Given the description of an element on the screen output the (x, y) to click on. 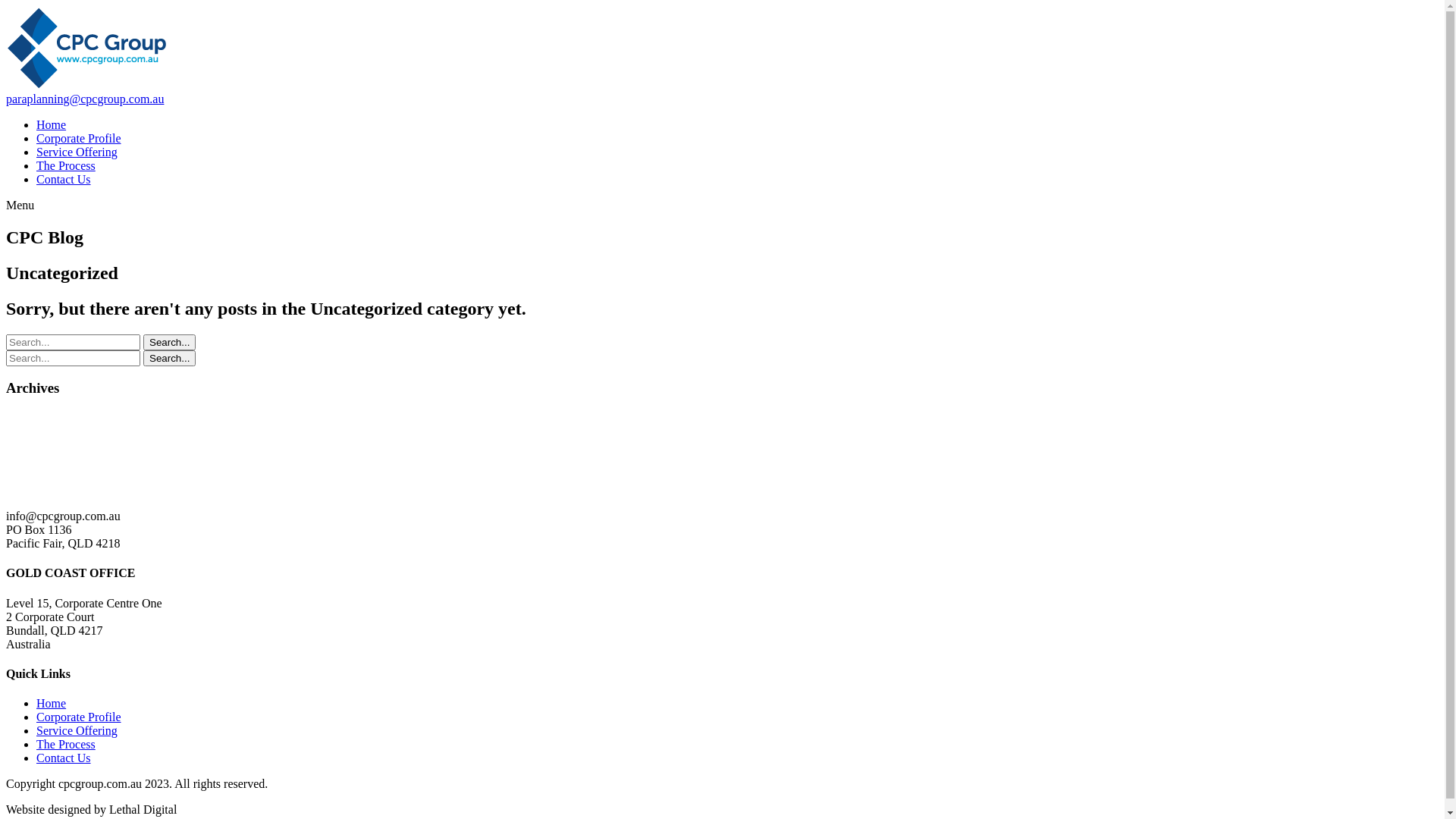
paraplanning@cpcgroup.com.au Element type: text (84, 98)
CPC Group Element type: hover (87, 489)
Contact Us Element type: text (63, 178)
The Process Element type: text (65, 165)
Search... Element type: text (169, 358)
Service Offering Element type: text (76, 730)
The Process Element type: text (65, 743)
Corporate Profile Element type: text (78, 137)
Home Element type: text (50, 124)
CPC Group Element type: hover (87, 84)
Corporate Profile Element type: text (78, 716)
Search... Element type: text (169, 342)
Contact Us Element type: text (63, 757)
Home Element type: text (50, 702)
Service Offering Element type: text (76, 151)
